Given the description of an element on the screen output the (x, y) to click on. 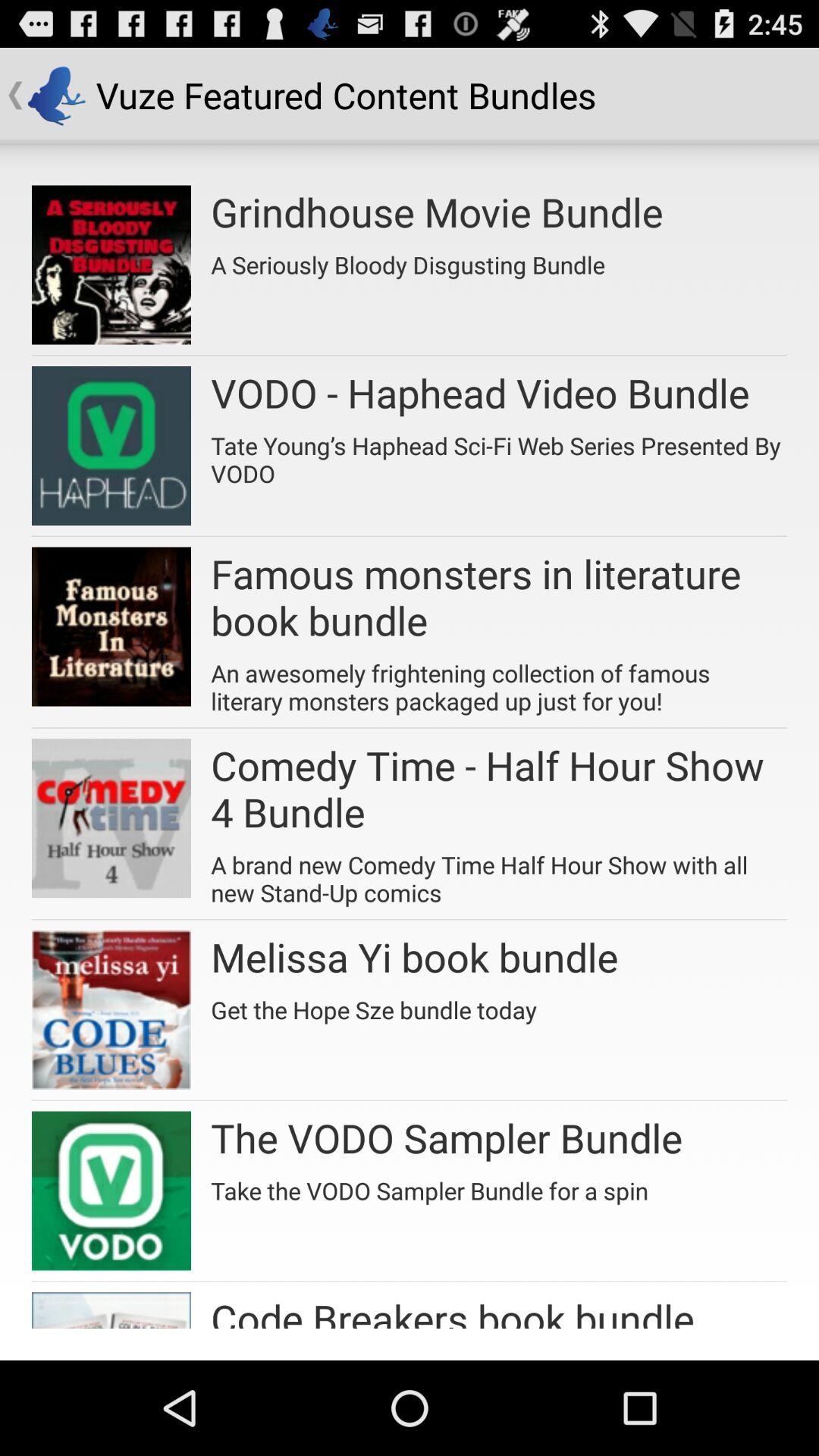
tap item below melissa yi book (373, 1004)
